Given the description of an element on the screen output the (x, y) to click on. 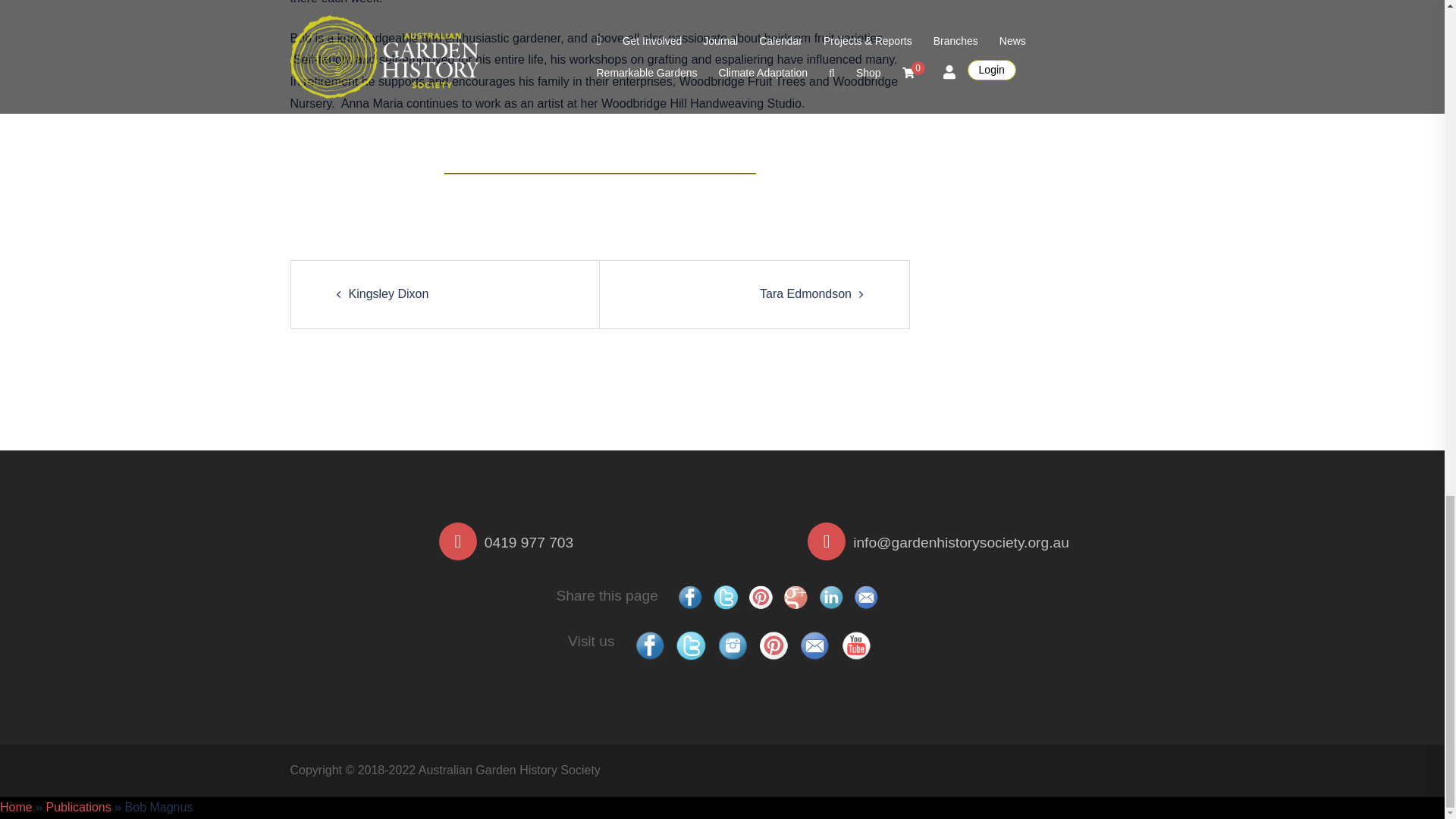
Share via Twitter (725, 596)
YouTube (856, 645)
Share via Pinterest (760, 596)
Instagram (732, 645)
Share via Facebook (689, 596)
Share via LinkedIn (830, 596)
Pinterest (773, 645)
Share via Email (865, 596)
Facebook (649, 645)
Twitter (690, 645)
Email (814, 645)
Share via Google (795, 596)
